Given the description of an element on the screen output the (x, y) to click on. 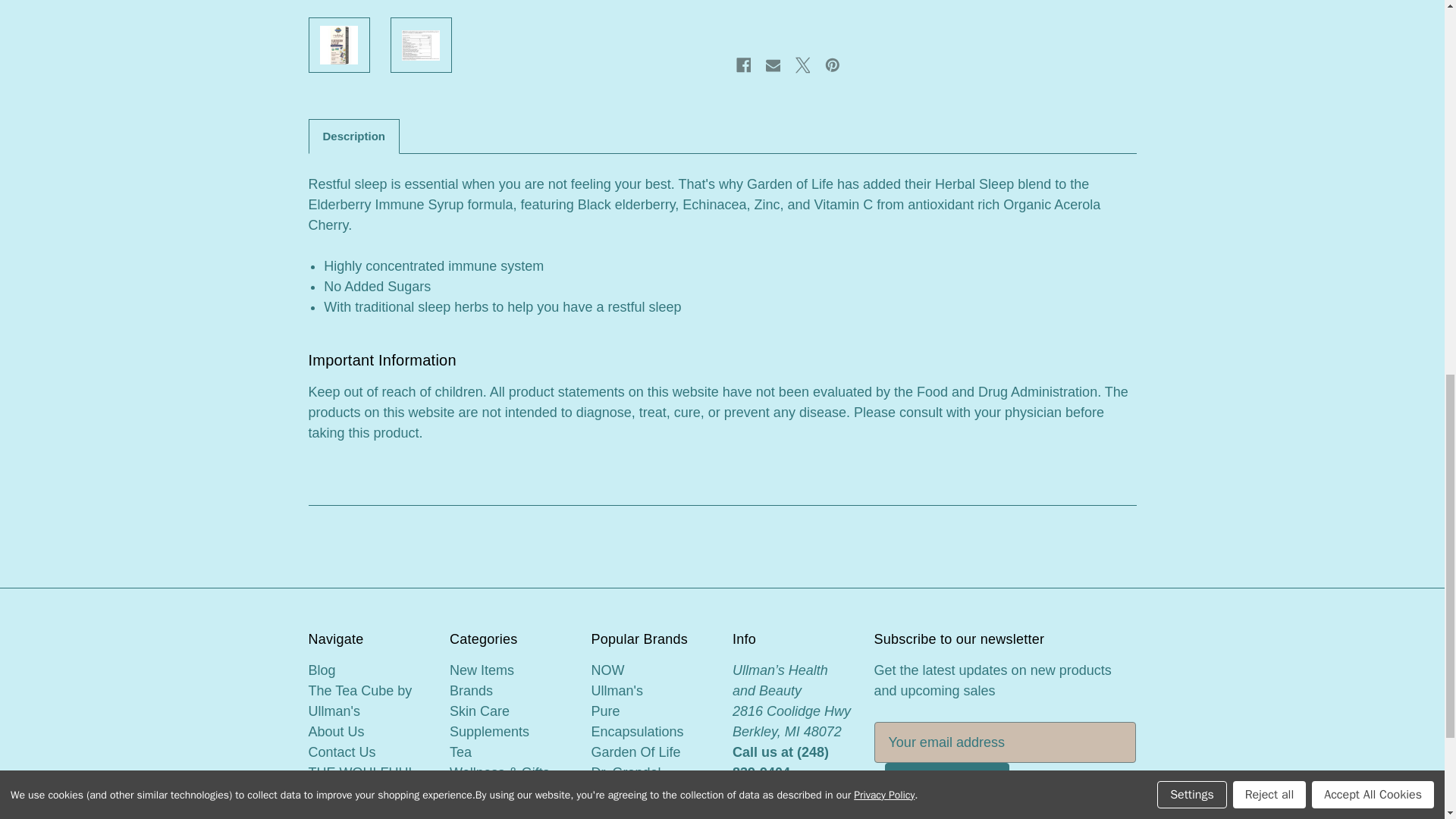
Pinterest (832, 64)
Facebook (743, 64)
Email (772, 64)
X (801, 64)
Subscribe (946, 782)
